Given the description of an element on the screen output the (x, y) to click on. 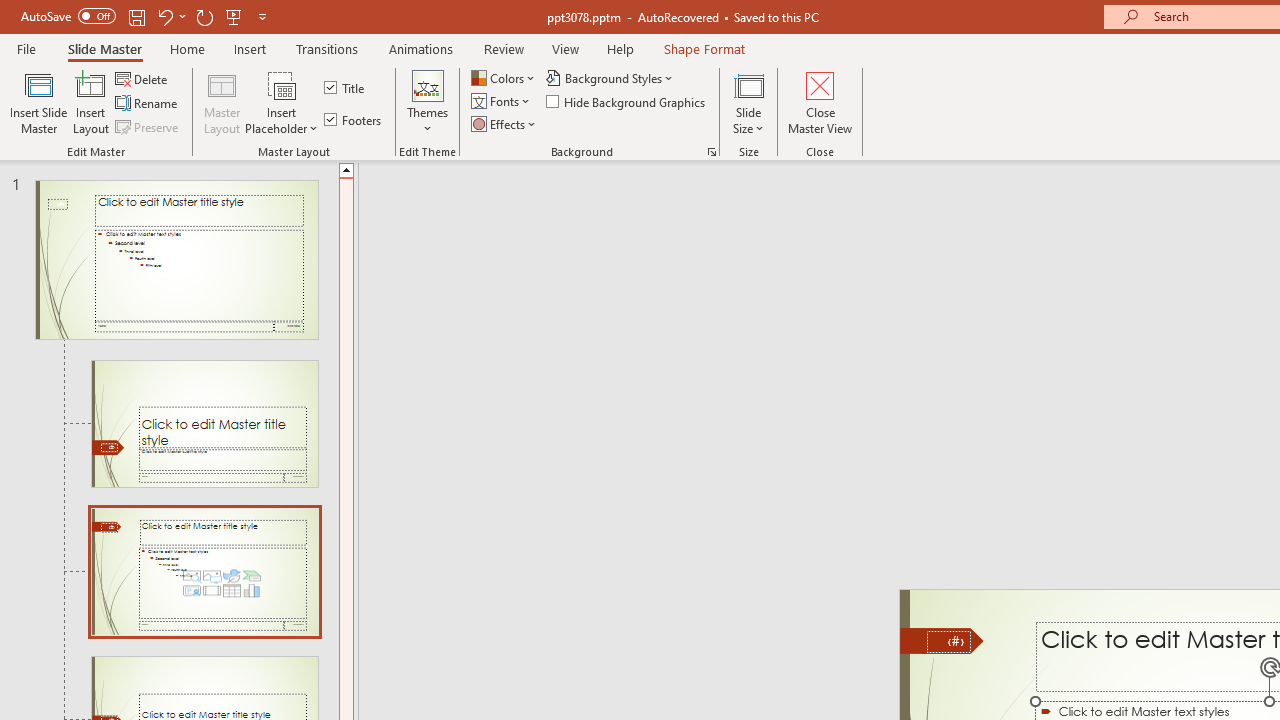
Footers (354, 119)
